Given the description of an element on the screen output the (x, y) to click on. 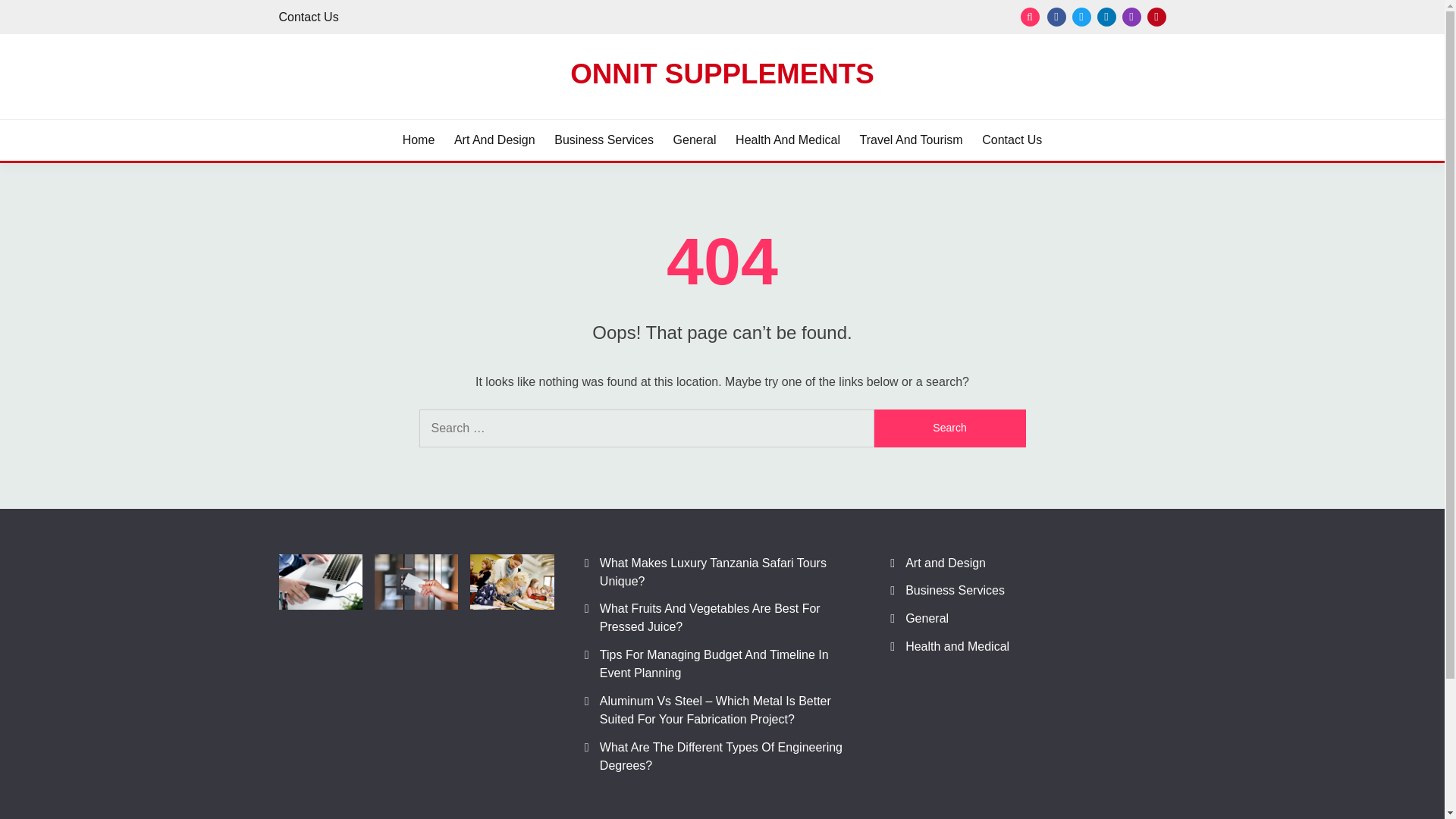
What Are The Different Types Of Engineering Degrees? (721, 756)
Pinterest (1156, 16)
Art And Design (494, 140)
Contact Us (1011, 140)
Art and Design (945, 562)
Search (949, 428)
Contact Us (309, 16)
Travel And Tourism (911, 140)
Search (949, 428)
Search (832, 18)
